Given the description of an element on the screen output the (x, y) to click on. 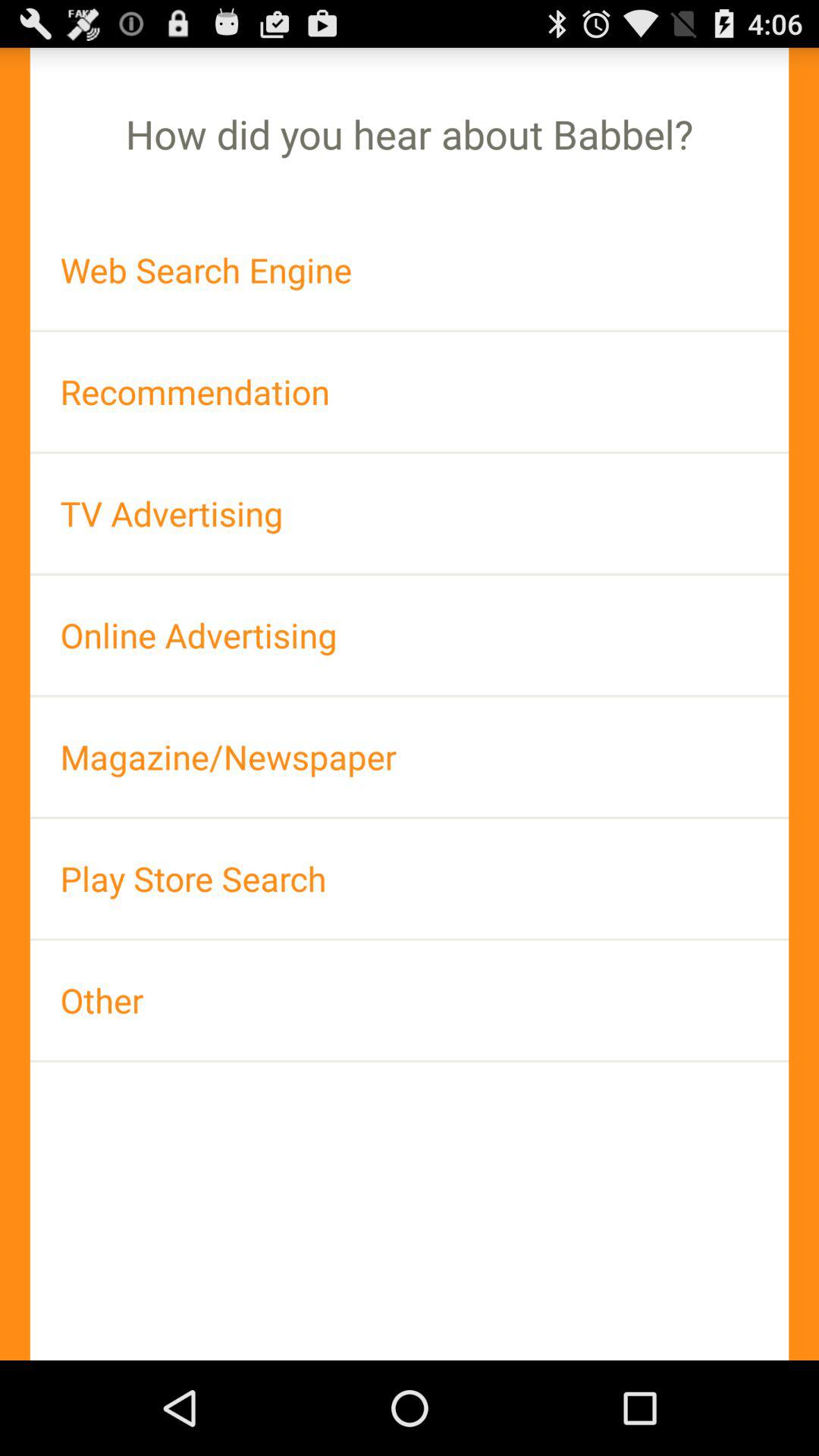
click online advertising item (409, 635)
